Given the description of an element on the screen output the (x, y) to click on. 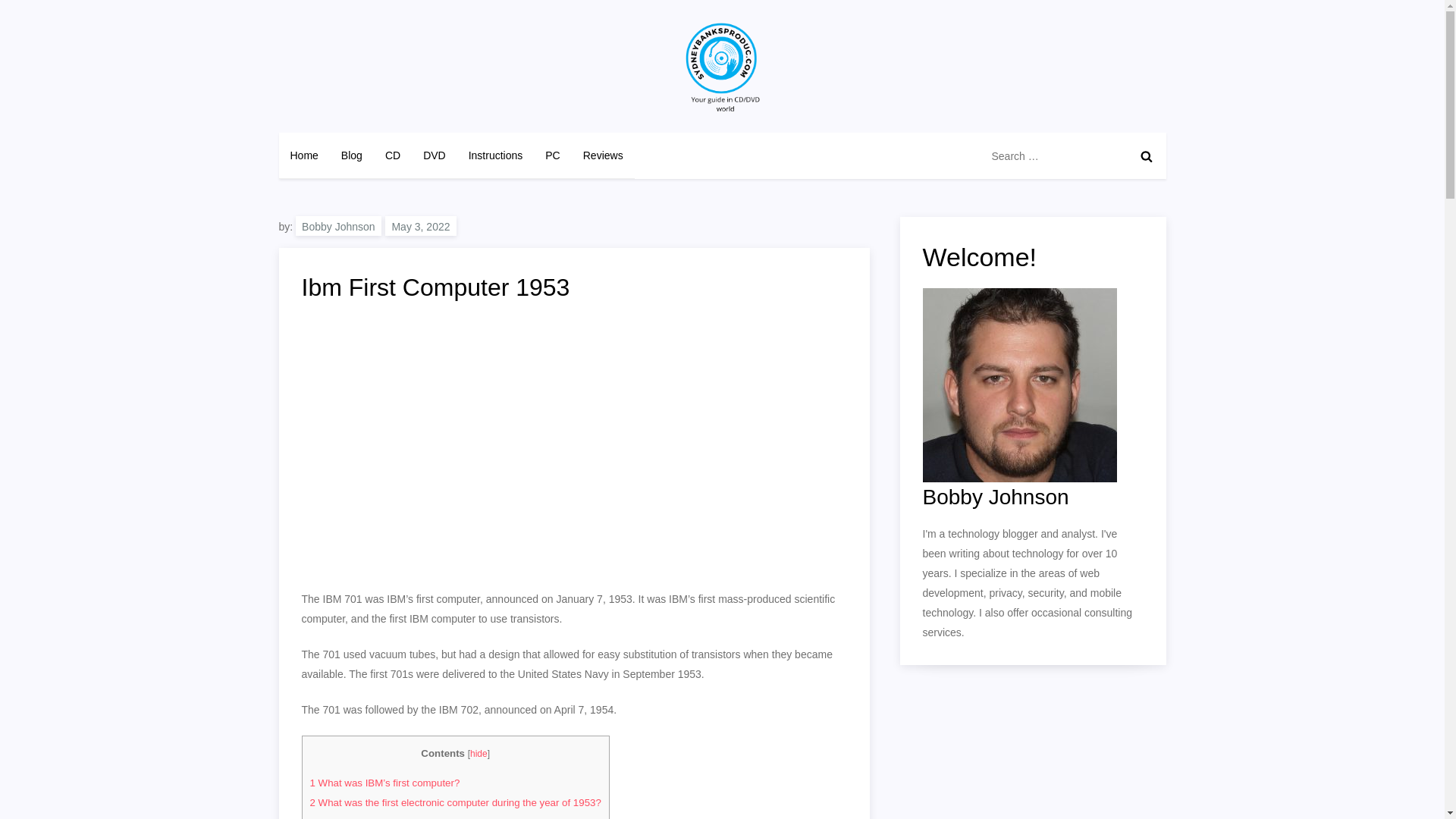
Bobby Johnson (338, 225)
Home (304, 155)
Blog (352, 155)
Instructions (495, 155)
hide (478, 753)
May 3, 2022 (420, 225)
Sydneybanksproducts.com (427, 126)
DVD (434, 155)
Reviews (603, 155)
